Given the description of an element on the screen output the (x, y) to click on. 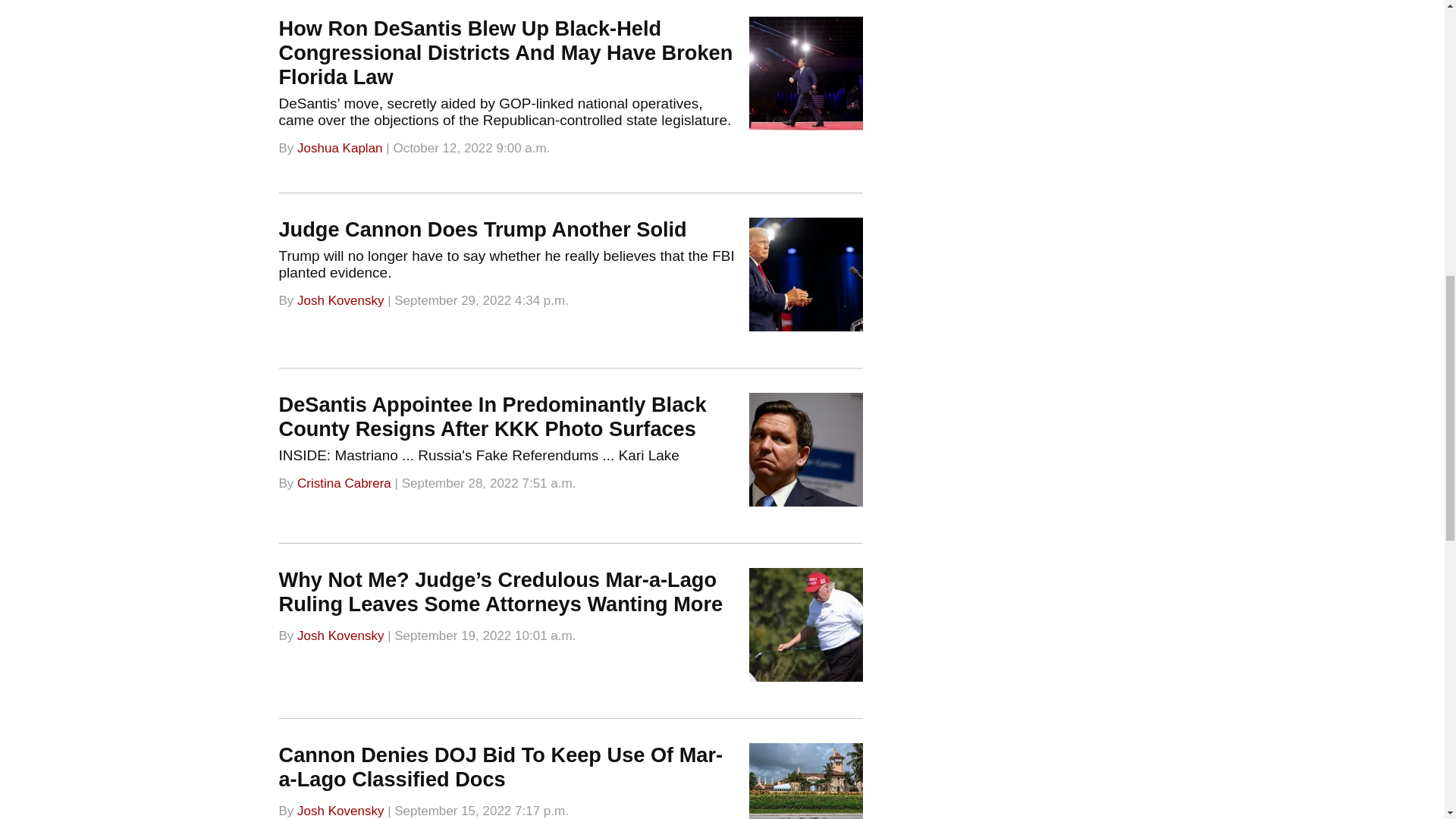
Posts by Joshua Kaplan (339, 147)
Posts by Josh Kovensky (340, 299)
Posts by Josh Kovensky (340, 810)
Posts by Cristina Cabrera (344, 482)
3rd party ad content (1062, 153)
Posts by Josh Kovensky (340, 635)
